Given the description of an element on the screen output the (x, y) to click on. 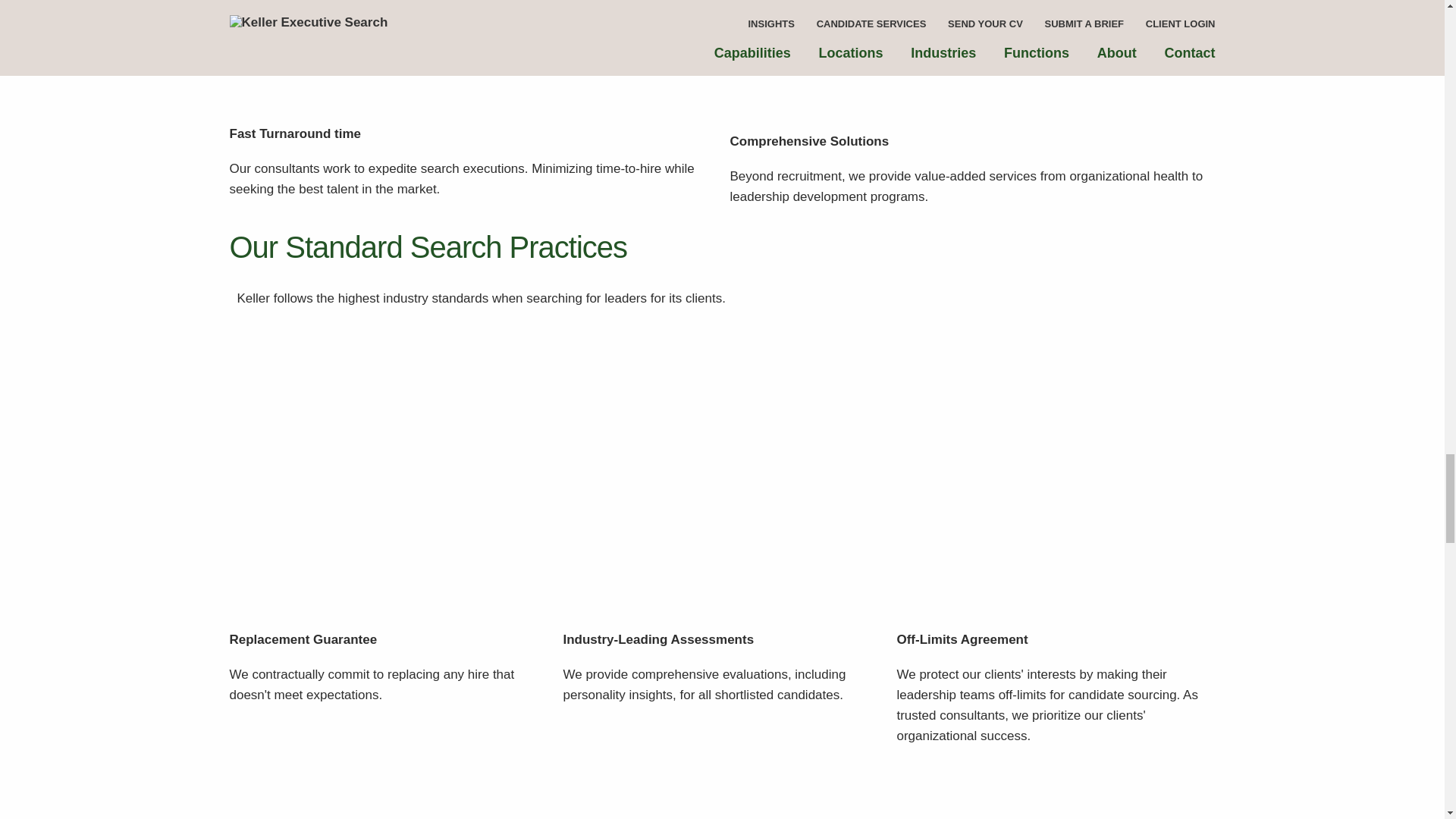
value-fee (836, 58)
leadership-consulting (335, 54)
leadership-consulting (335, 786)
reference-check-2 (889, 786)
